Given the description of an element on the screen output the (x, y) to click on. 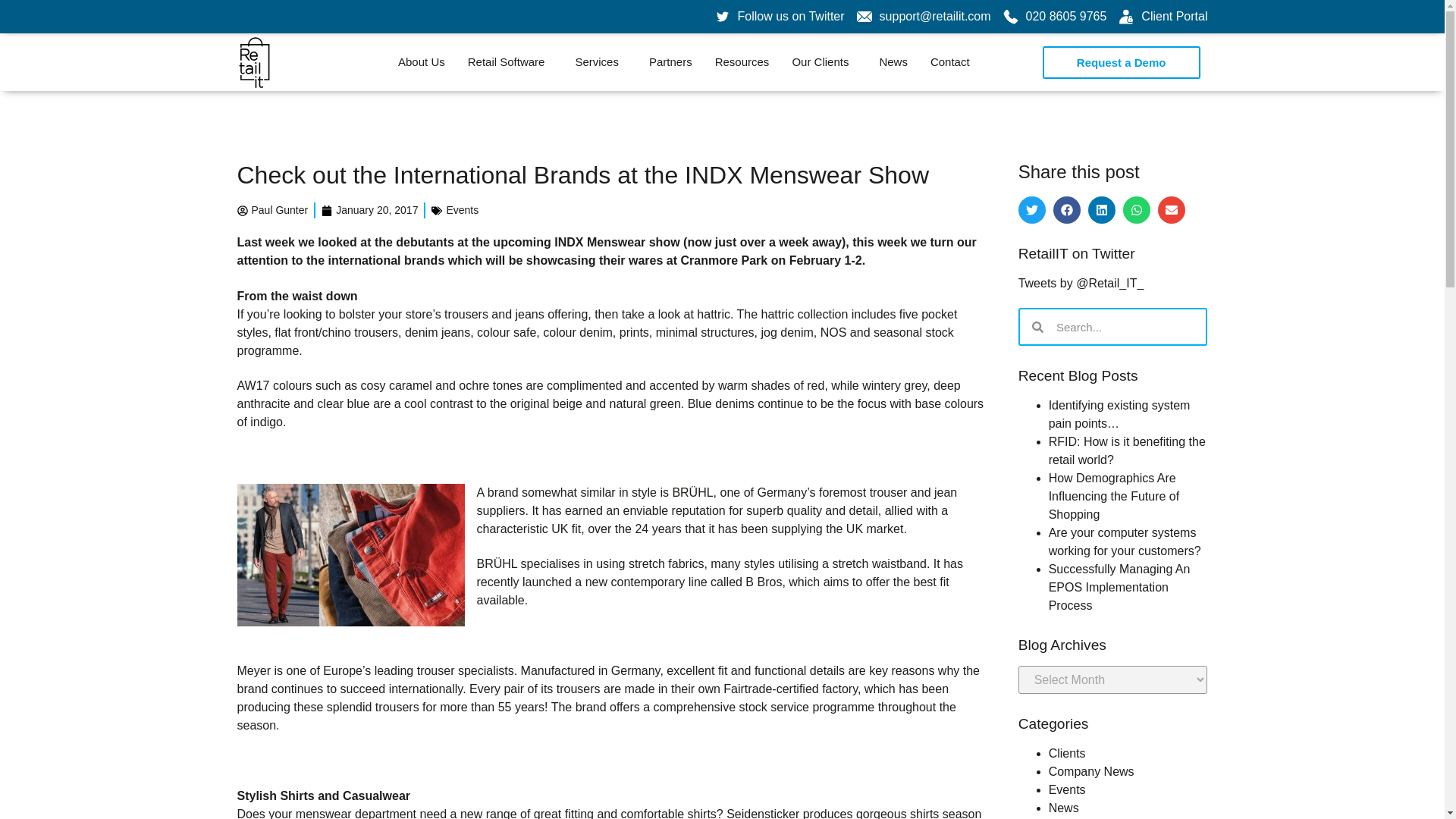
Follow us on Twitter (779, 16)
Retail It Client portal (1162, 16)
Client Portal (1162, 16)
News (892, 61)
Services (600, 61)
About Us (422, 61)
Resources (741, 61)
Partners (670, 61)
020 8605 9765 (1054, 16)
Retail It About Us (422, 61)
Retail It Follow us on Twitter (779, 16)
Retail Software (510, 61)
Our Clients (823, 61)
Contact (949, 61)
